Given the description of an element on the screen output the (x, y) to click on. 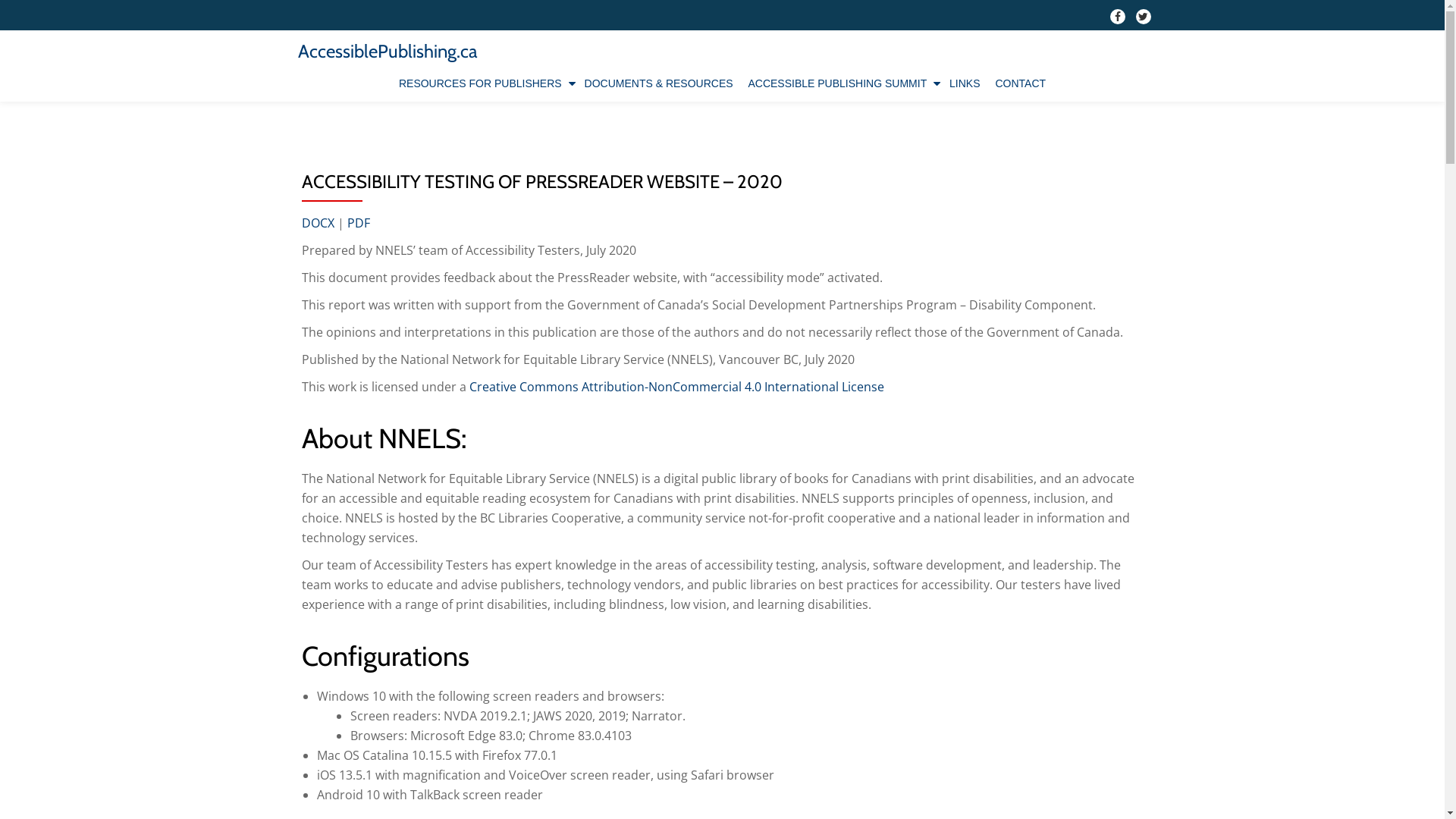
AccessiblePublishing.ca Element type: text (386, 51)
DOCUMENTS & RESOURCES Element type: text (658, 83)
fa-twitter Element type: text (1143, 19)
CONTACT Element type: text (1019, 83)
PDF Element type: text (358, 222)
fa-facebook Element type: text (1117, 19)
DOCX Element type: text (317, 222)
RESOURCES FOR PUBLISHERS Element type: text (483, 83)
ACCESSIBLE PUBLISHING SUMMIT Element type: text (840, 83)
LINKS Element type: text (964, 83)
